Given the description of an element on the screen output the (x, y) to click on. 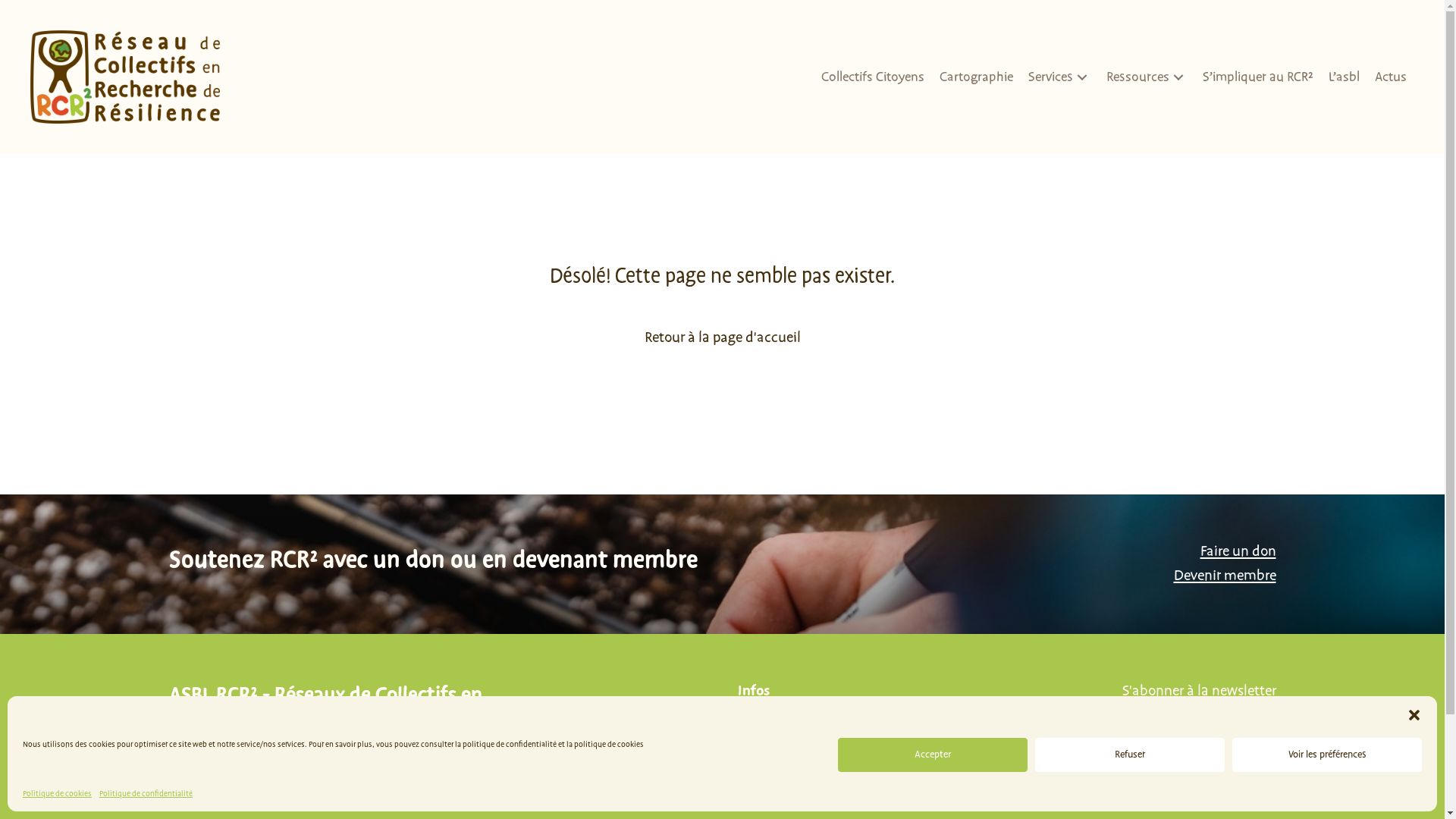
RCR2 Logo3b Element type: hover (124, 76)
info@asblrcr.be Element type: text (881, 746)
Accepter Element type: text (932, 754)
Faire un don Element type: text (1237, 551)
Collectifs Citoyens Element type: text (872, 76)
Devenir membre Element type: text (1224, 575)
Politique de cookies Element type: text (56, 793)
Cartographie Element type: text (975, 76)
Refuser Element type: text (1129, 754)
Ressources Element type: text (1146, 76)
Actus Element type: text (1390, 76)
Services Element type: text (1059, 76)
